Given the description of an element on the screen output the (x, y) to click on. 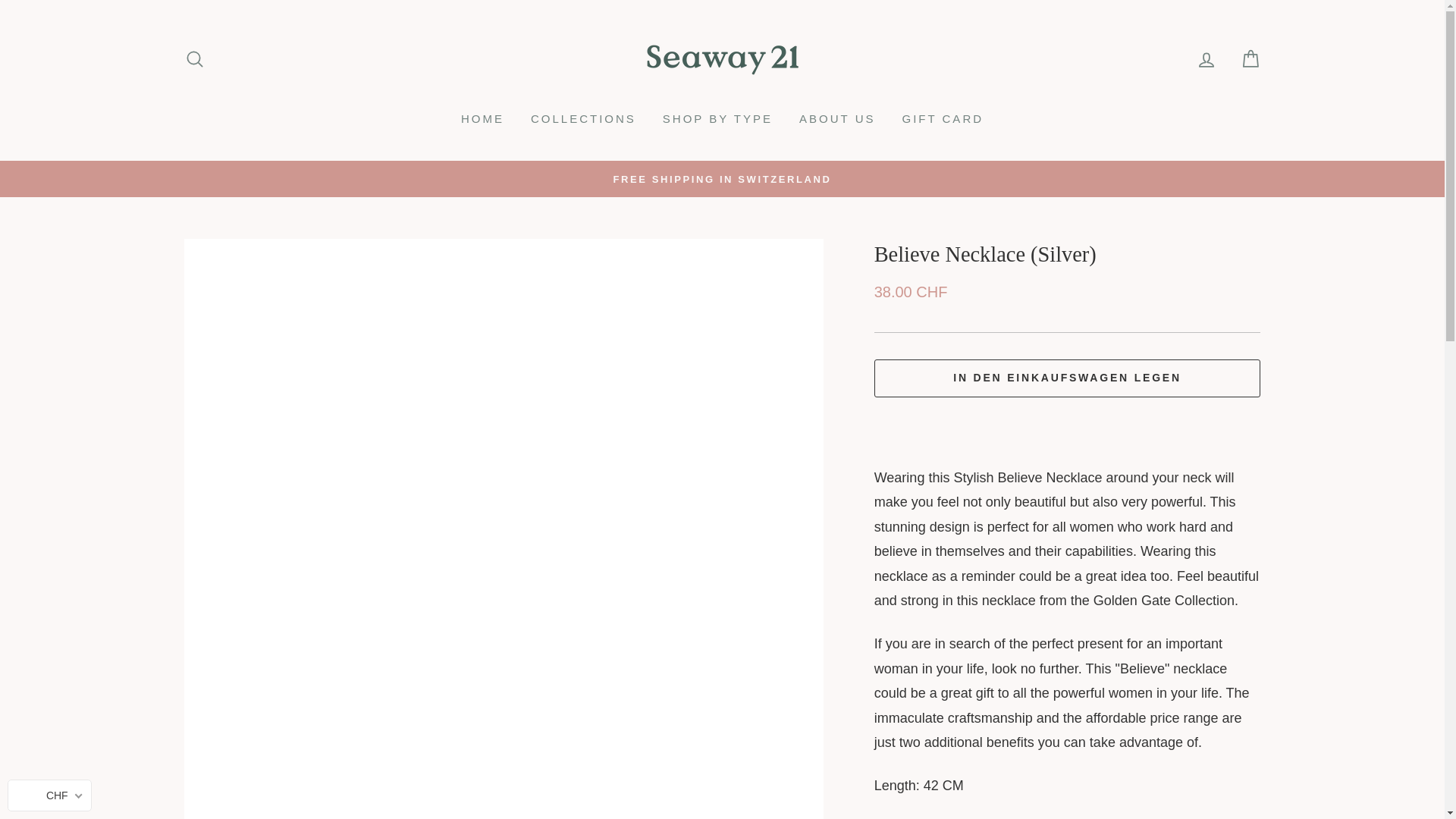
GIFT CARD (941, 118)
HOME (482, 118)
EINKAUFSWAGEN (1249, 58)
SUCHE (194, 58)
SHOP BY TYPE (717, 118)
ABOUT US (836, 118)
EINLOGGEN (1205, 58)
COLLECTIONS (583, 118)
